Given the description of an element on the screen output the (x, y) to click on. 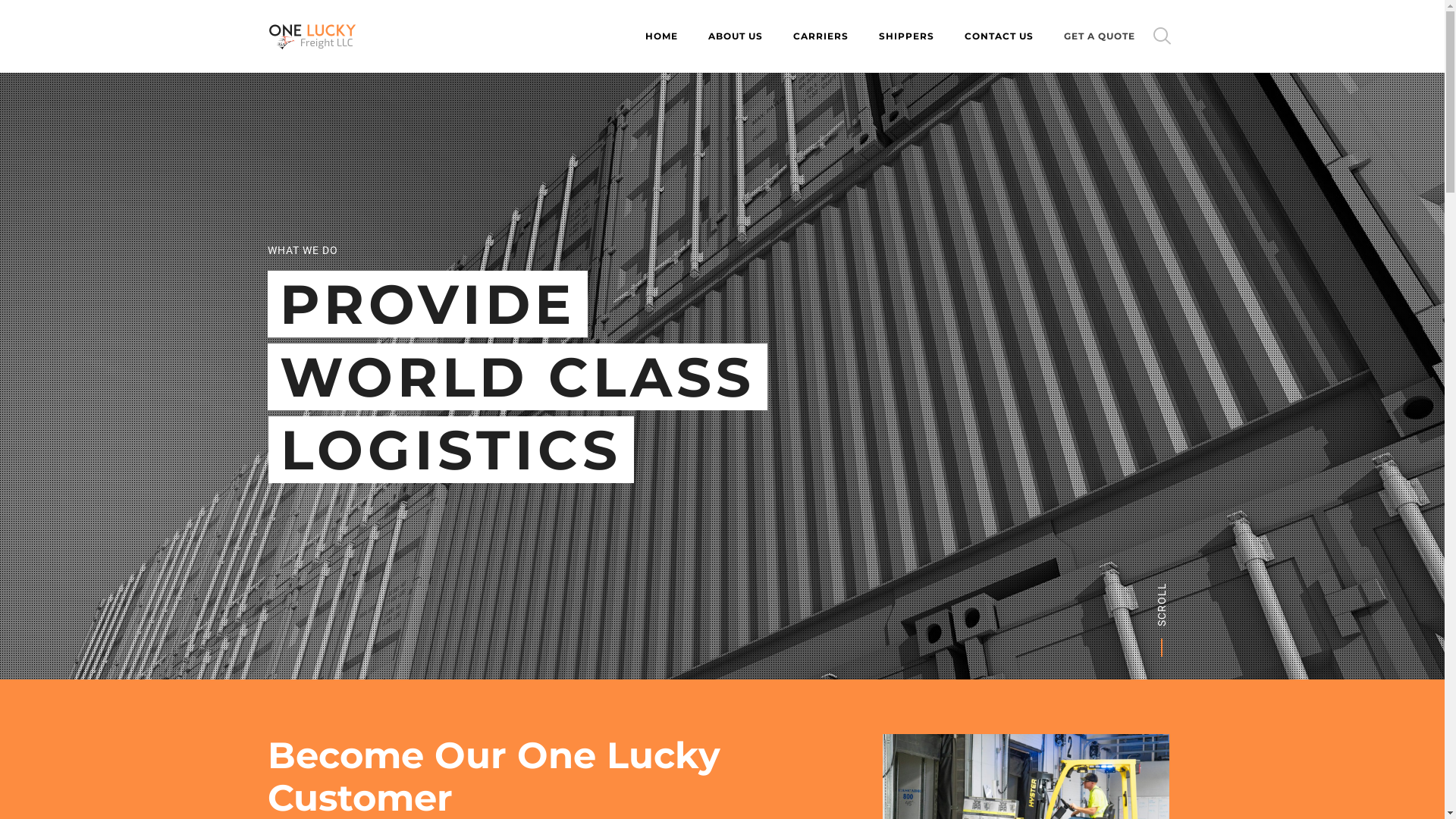
One Lucky Freight LLC Element type: hover (311, 36)
SHIPPERS Element type: text (905, 36)
ABOUT US Element type: text (735, 36)
HOME Element type: text (660, 36)
CONTACT US Element type: text (998, 36)
GET A QUOTE Element type: text (1098, 36)
CARRIERS Element type: text (820, 36)
